Given the description of an element on the screen output the (x, y) to click on. 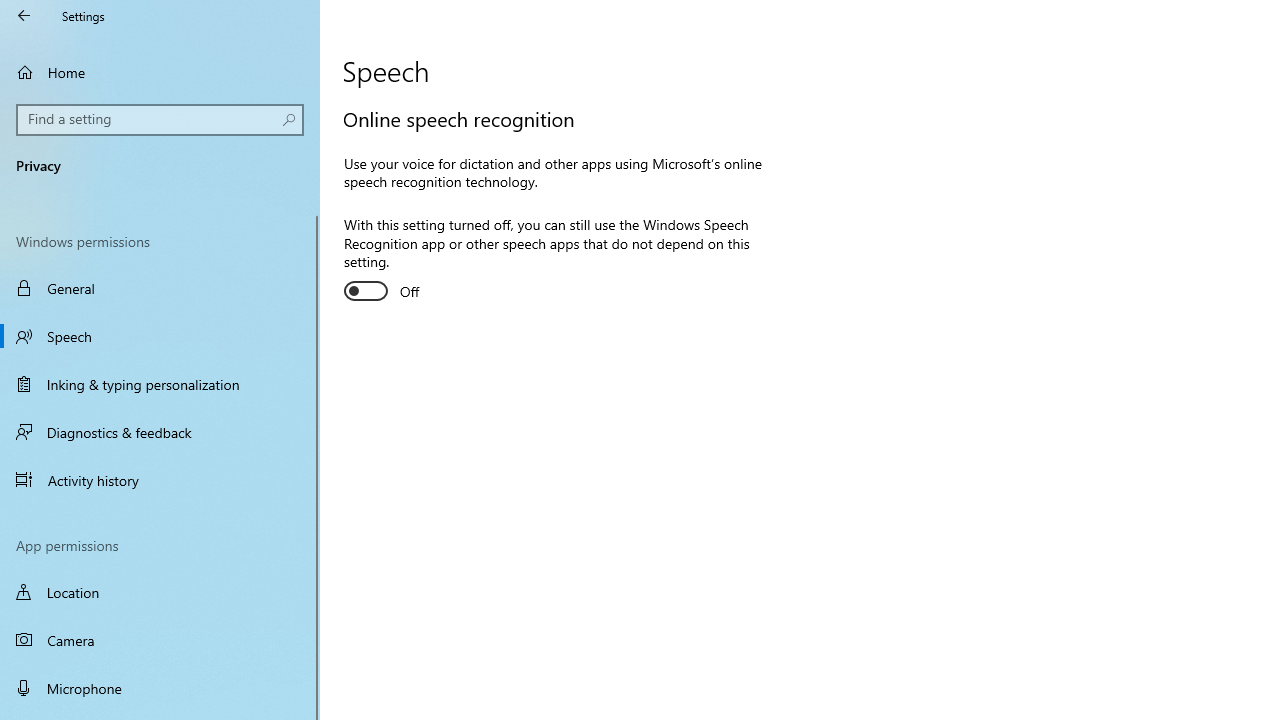
Camera (160, 639)
Location (160, 592)
Inking & typing personalization (160, 384)
Activity history (160, 479)
Diagnostics & feedback (160, 431)
Speech (160, 335)
General (160, 287)
Microphone (160, 687)
